Given the description of an element on the screen output the (x, y) to click on. 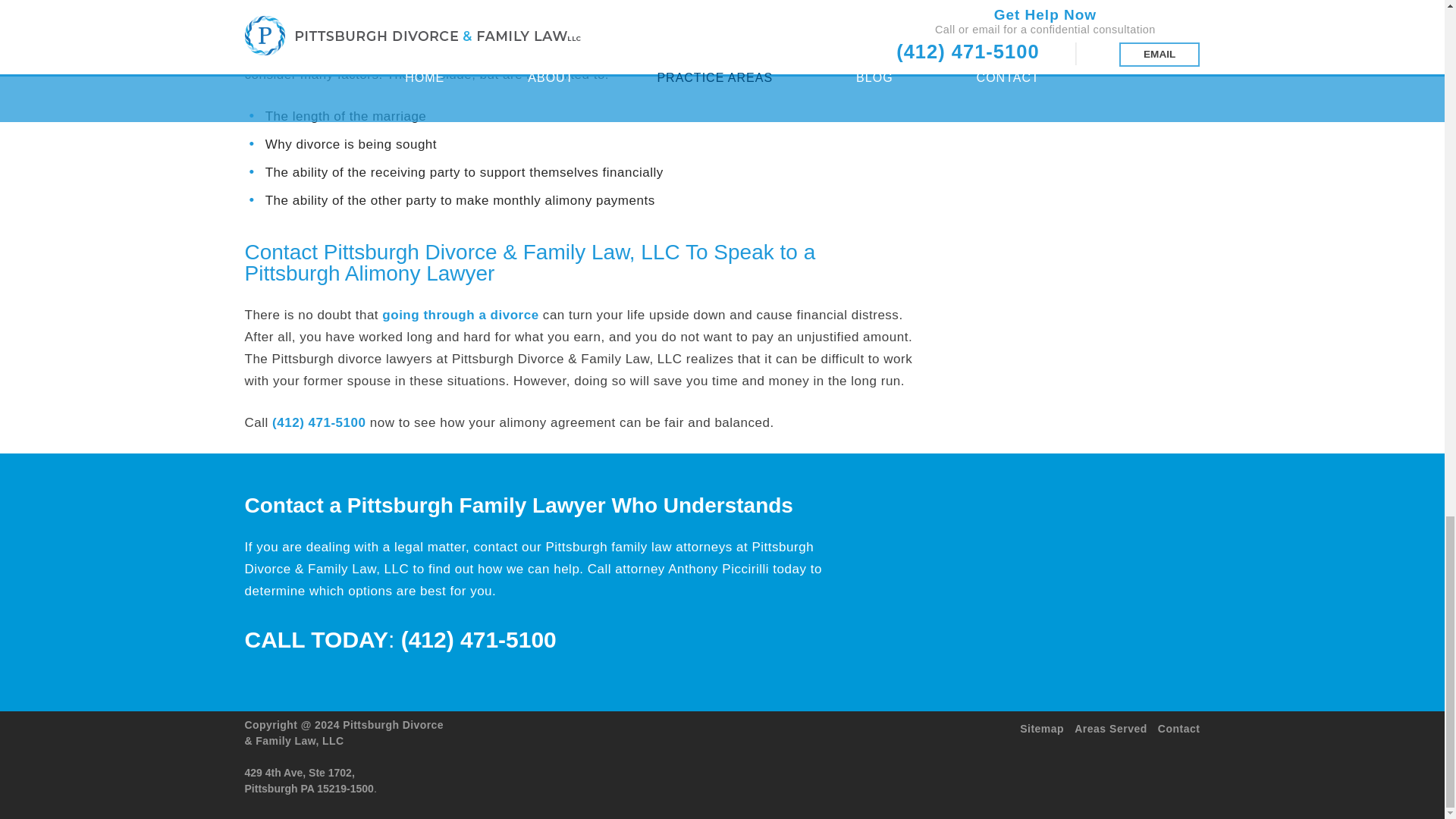
maps (597, 762)
Divorce Process (459, 314)
Call Pittsburgh Divorce and Family Law, LLC Today (318, 422)
